Given the description of an element on the screen output the (x, y) to click on. 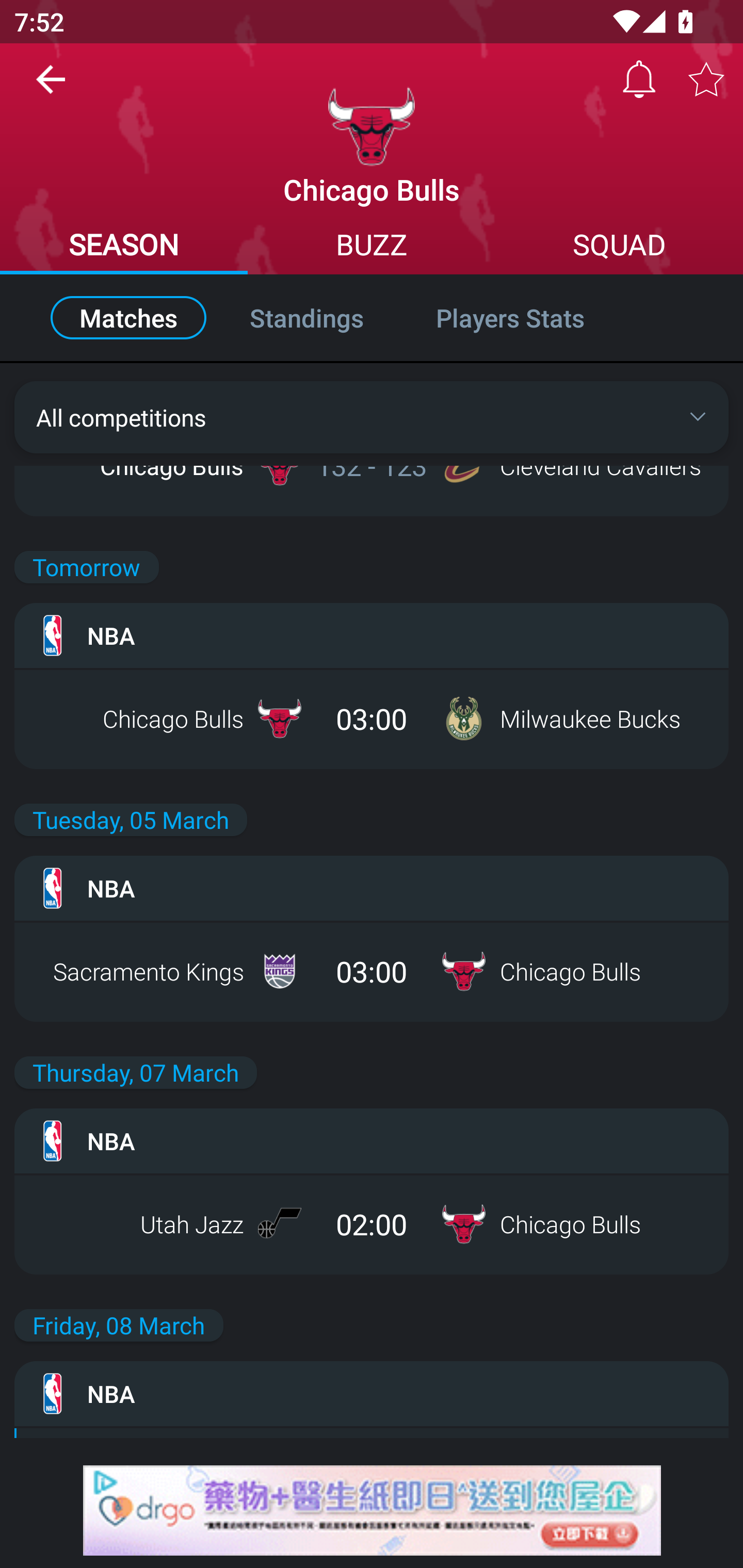
Navigate up (50, 86)
SEASON (123, 246)
BUZZ (371, 246)
SQUAD (619, 246)
Standings (306, 317)
Players Stats (531, 317)
All competitions (371, 417)
NBA (371, 635)
Chicago Bulls 03:00 Milwaukee Bucks (371, 717)
NBA (371, 888)
Sacramento Kings 03:00 Chicago Bulls (371, 971)
NBA (371, 1140)
Utah Jazz 02:00 Chicago Bulls (371, 1223)
NBA (371, 1393)
Advertisement (371, 1509)
